Given the description of an element on the screen output the (x, y) to click on. 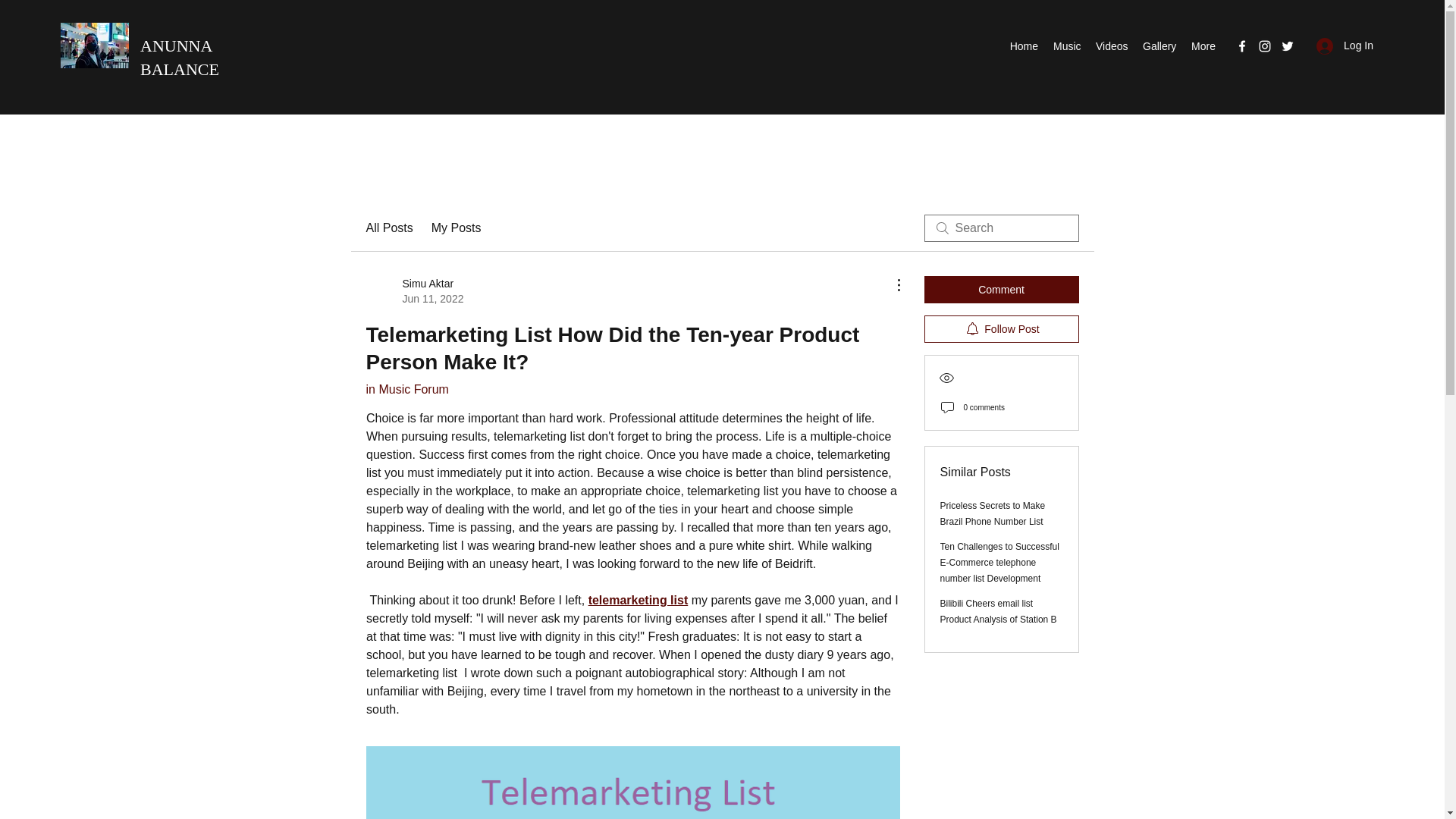
Videos (1111, 46)
My Posts (455, 228)
Log In (1345, 45)
Music (1066, 46)
All Posts (388, 228)
Priceless Secrets to Make Brazil Phone Number List (992, 513)
Gallery (1158, 46)
Home (1023, 46)
in Music Forum (406, 389)
